Given the description of an element on the screen output the (x, y) to click on. 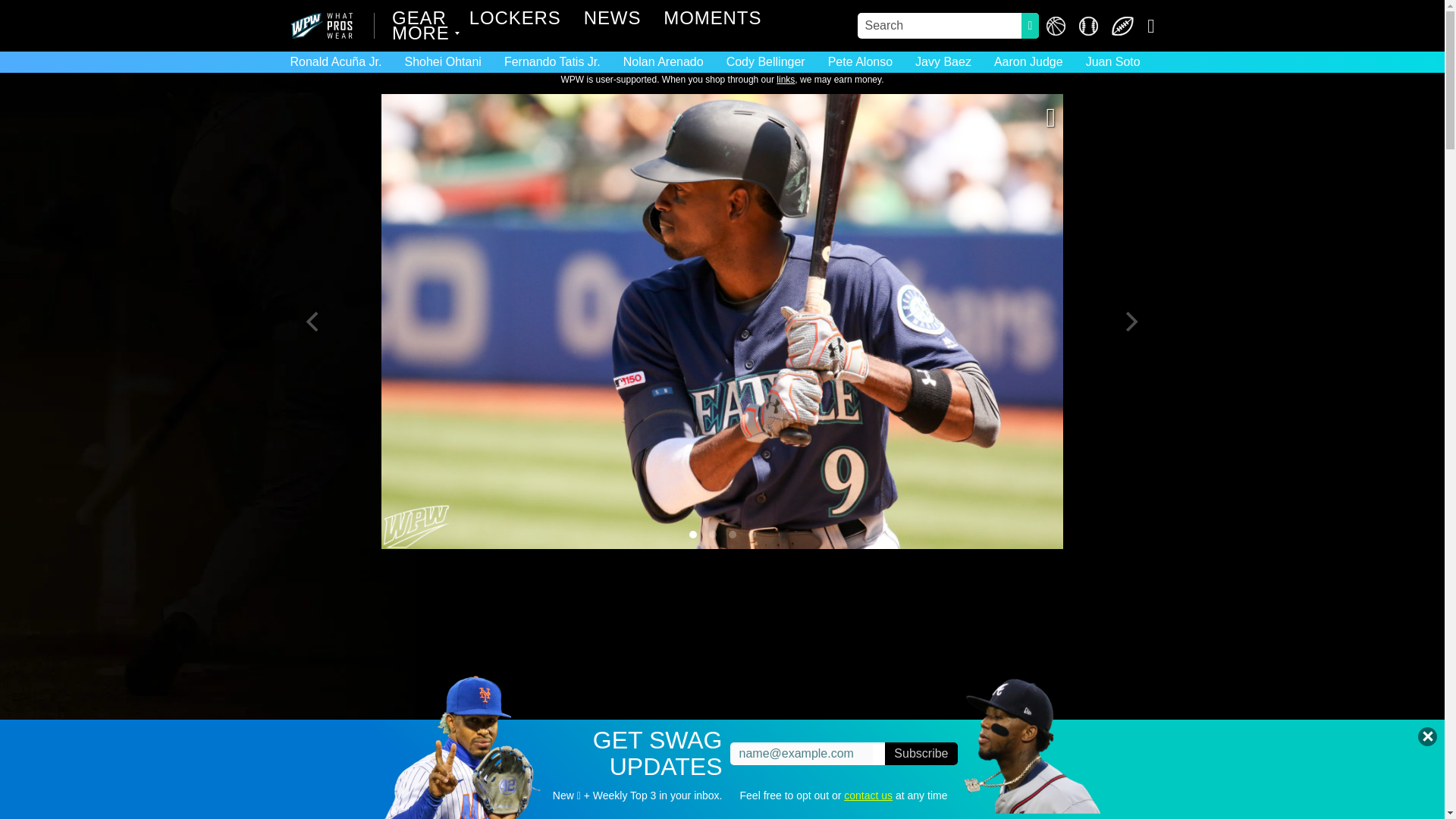
Gear (418, 20)
Javy Baez (943, 60)
Fernando Tatis Jr. (552, 60)
Nolan Arenado (662, 60)
Moments (712, 20)
News (612, 20)
Cody Bellinger (765, 60)
MOMENTS (712, 20)
GEAR (418, 20)
MORE (421, 35)
Shohei Ohtani (442, 60)
Juan Soto (1112, 60)
Subscribe (920, 753)
Pete Alonso (860, 60)
More (421, 35)
